Given the description of an element on the screen output the (x, y) to click on. 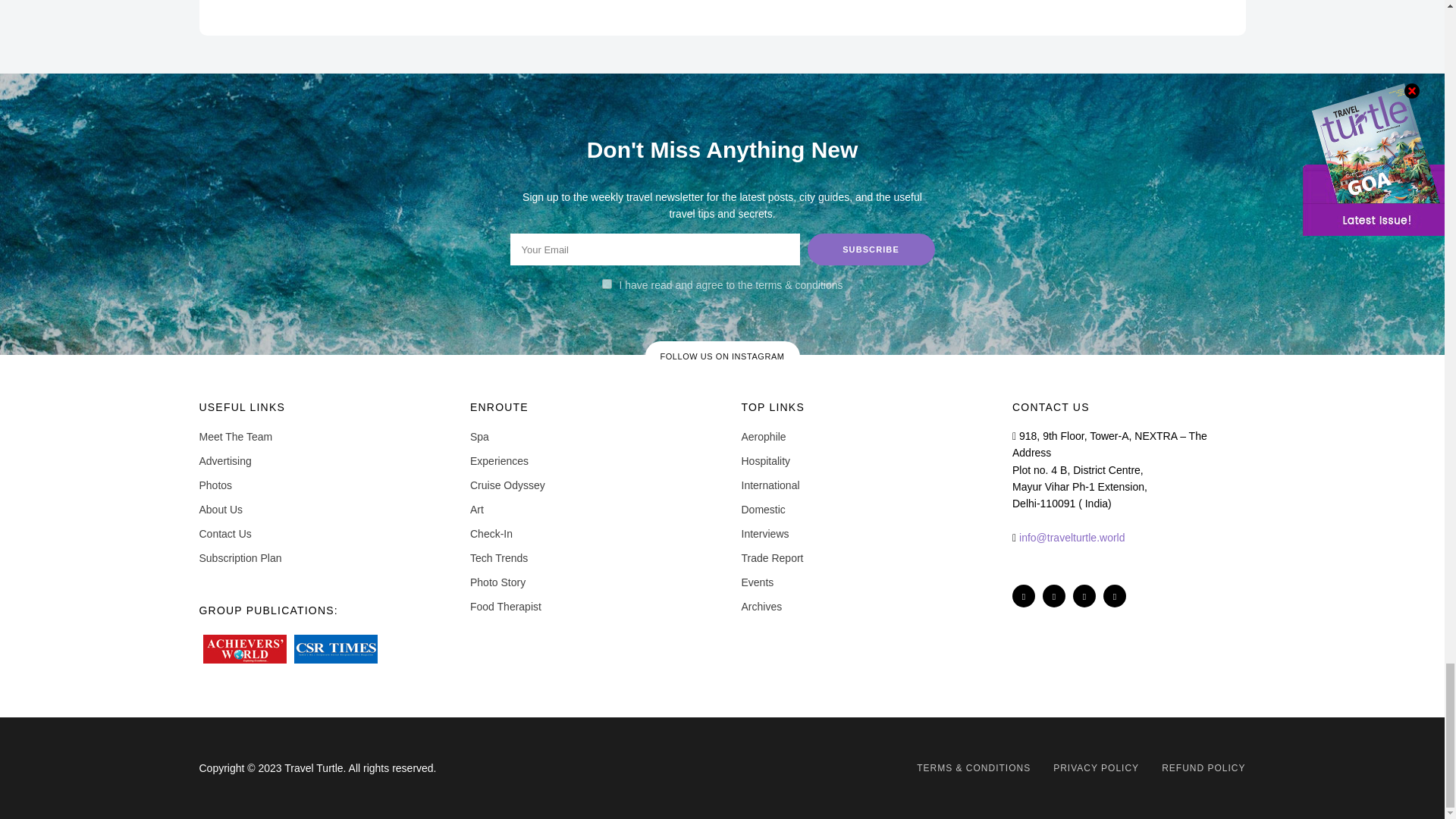
1 (606, 284)
Subscribe (870, 249)
